Given the description of an element on the screen output the (x, y) to click on. 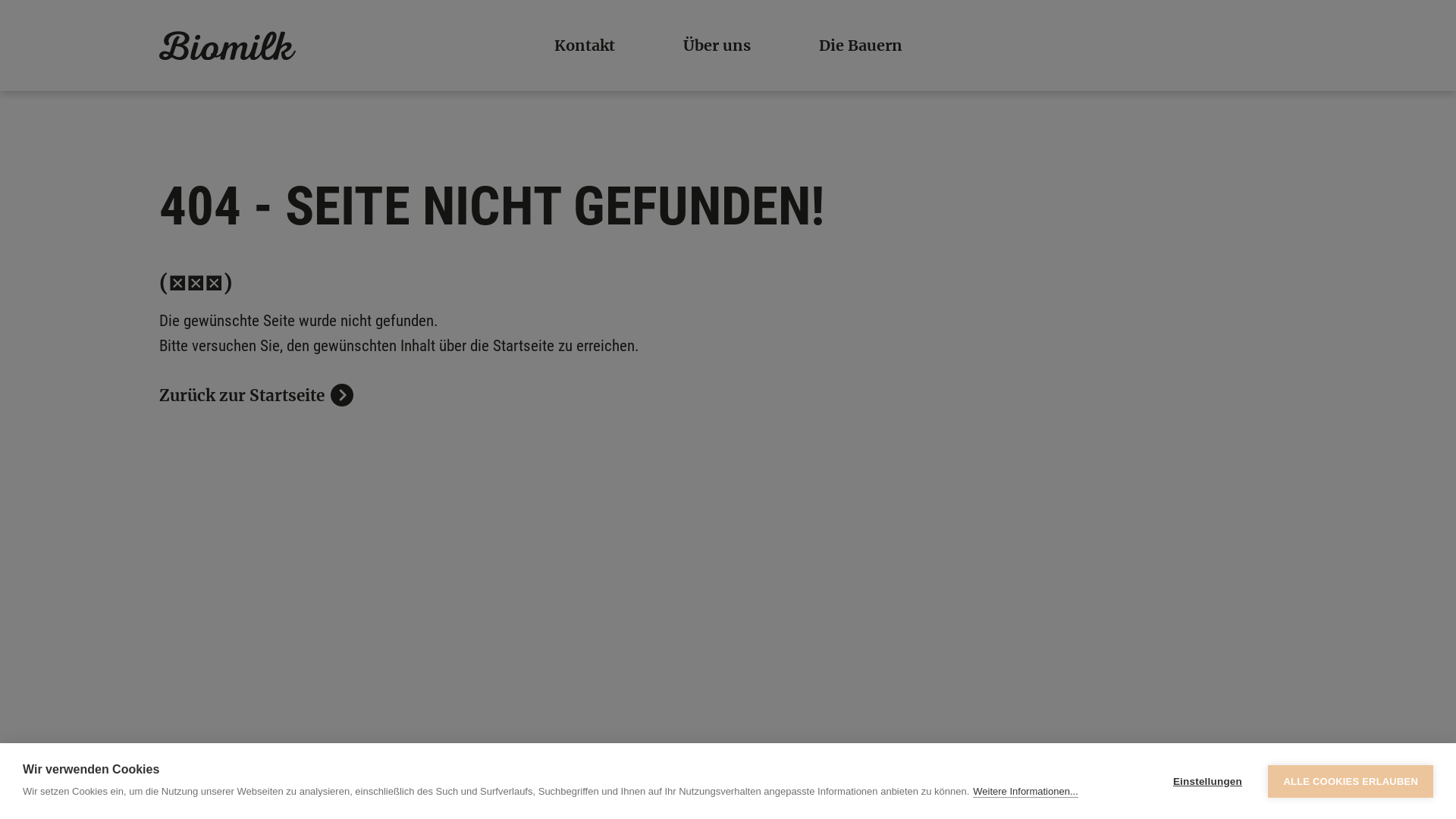
ALLE COOKIES ERLAUBEN Element type: text (1350, 780)
Die Bauern Element type: text (860, 45)
Biomilk Element type: hover (227, 45)
Einstellungen Element type: text (1207, 780)
Kontakt Element type: text (583, 45)
Weitere Informationen... Element type: text (1025, 791)
